Given the description of an element on the screen output the (x, y) to click on. 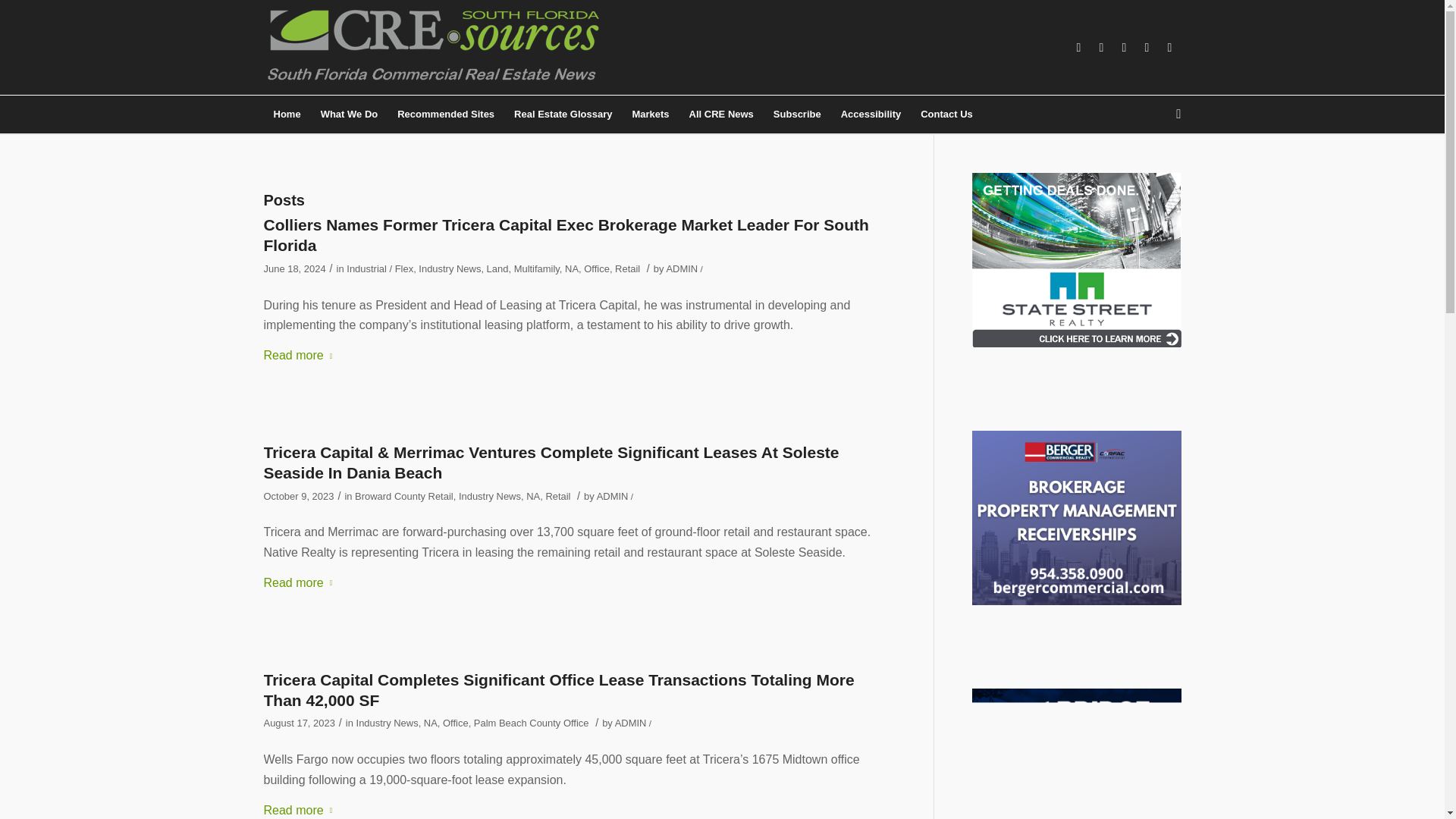
Facebook (1078, 47)
Commercial Real Estate Terms and Definitions (562, 114)
CRE-sources Markets (649, 114)
What We Do (349, 114)
Twitter (1146, 47)
What We Do At CRE-sources (349, 114)
Recommended Sites (445, 114)
Markets (649, 114)
Contact CRE-sources (946, 114)
LinkedIn (1101, 47)
